Given the description of an element on the screen output the (x, y) to click on. 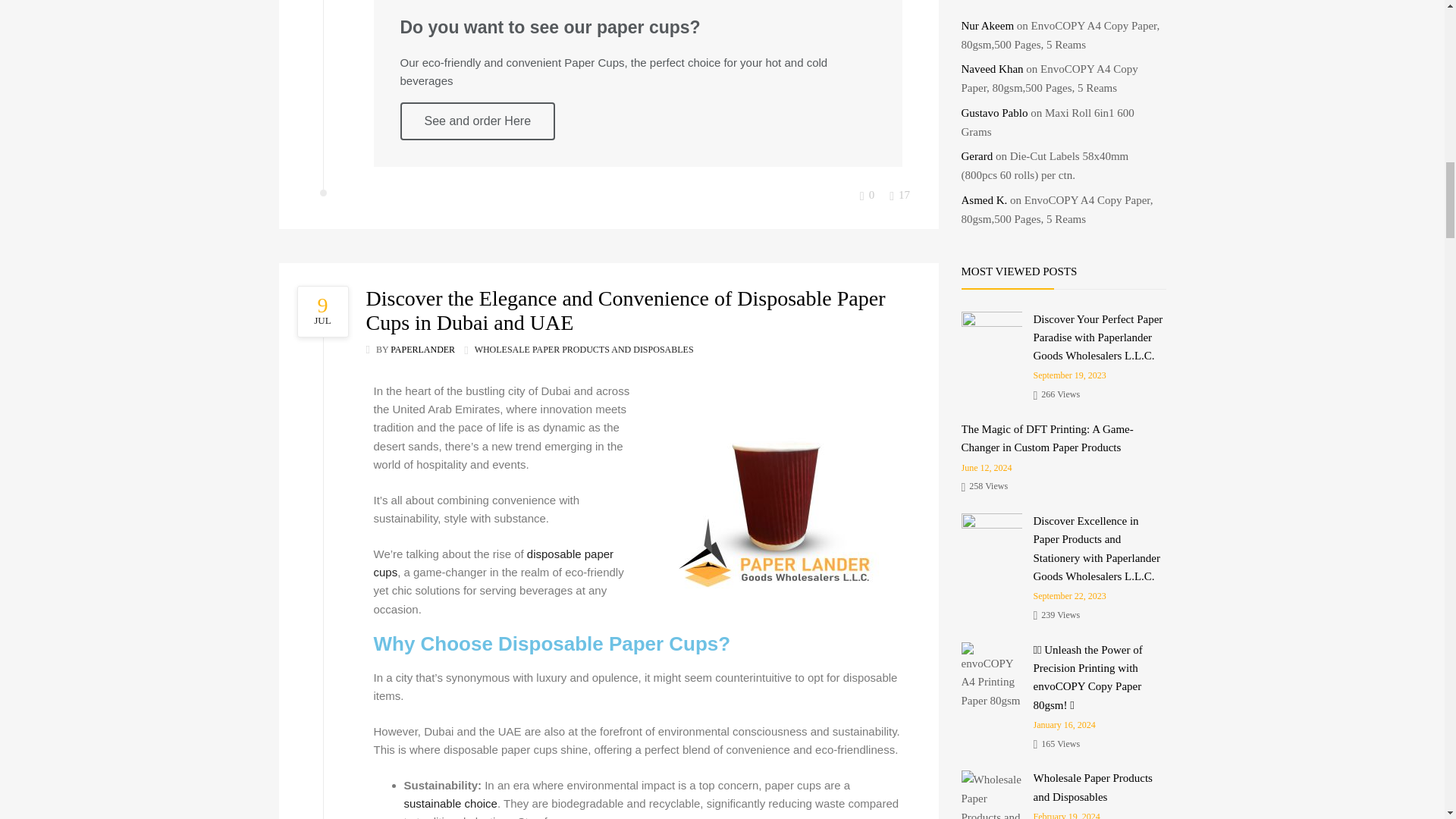
Click here to read more (326, 311)
See and order Here (478, 121)
View all posts by paperlander (422, 348)
